Given the description of an element on the screen output the (x, y) to click on. 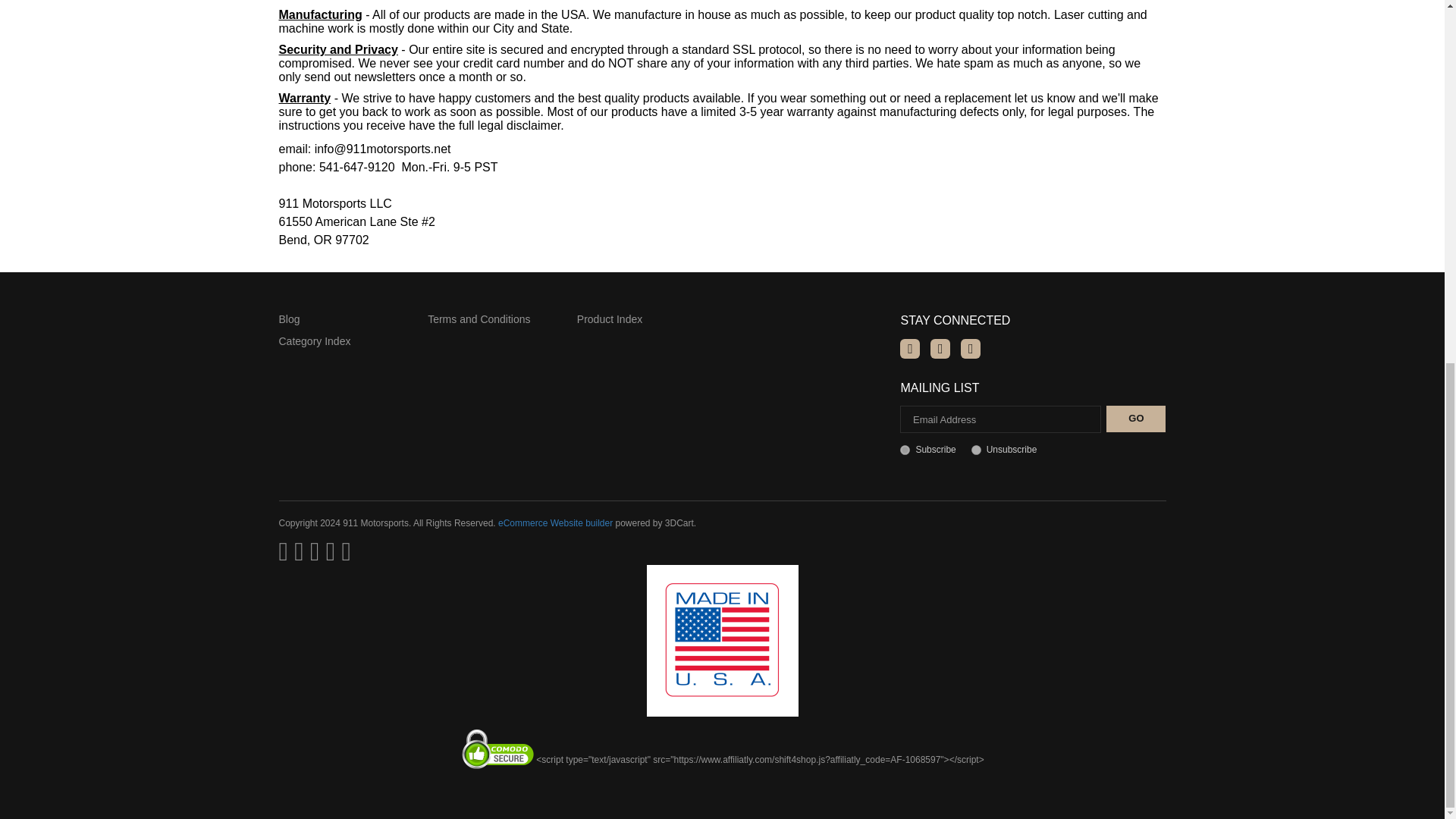
Follow Us on Instagram (969, 348)
Subscribe to our Channel (940, 348)
Like Us on Facebook (909, 348)
0 (976, 450)
1 (904, 450)
